Given the description of an element on the screen output the (x, y) to click on. 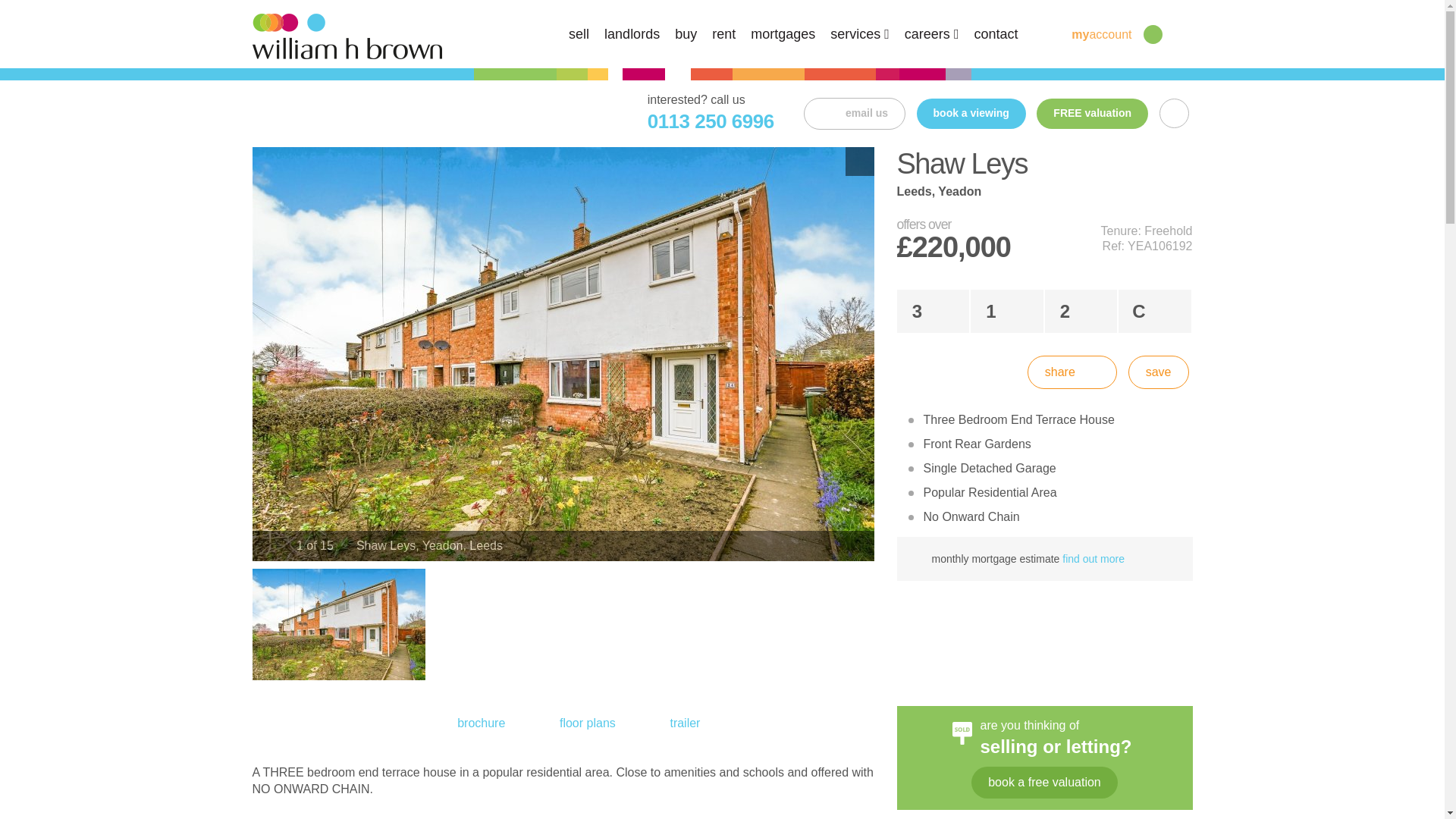
C EPC Rating (1154, 310)
1 bath (1007, 310)
services (859, 33)
landlords (631, 33)
contact (995, 33)
mortgages (783, 33)
careers (931, 33)
save this property to your myfavourites account (1158, 372)
William H Brown (346, 34)
myaccount (1088, 33)
